Given the description of an element on the screen output the (x, y) to click on. 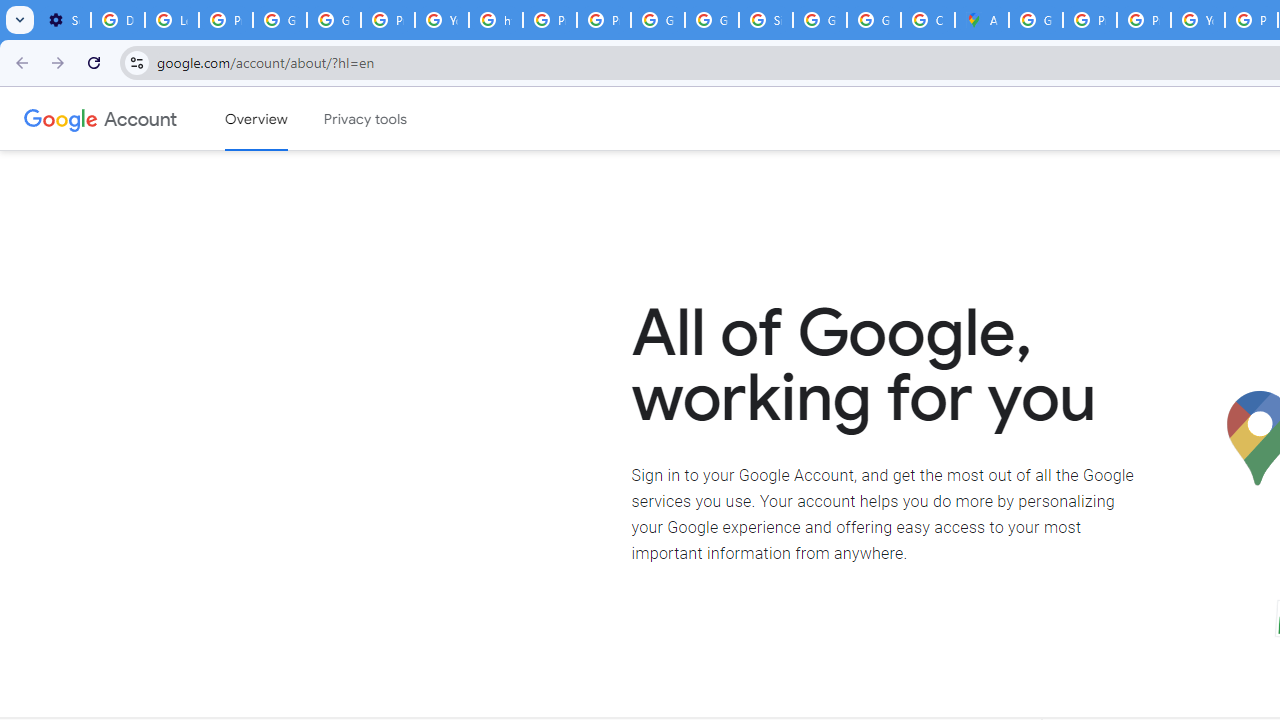
YouTube (1197, 20)
Skip to Content (285, 115)
Privacy Help Center - Policies Help (550, 20)
Google logo (61, 118)
Privacy Help Center - Policies Help (1089, 20)
Privacy tools (365, 119)
Google Account Help (280, 20)
Google Account overview (256, 119)
Google Account Help (333, 20)
Sign in - Google Accounts (765, 20)
